Given the description of an element on the screen output the (x, y) to click on. 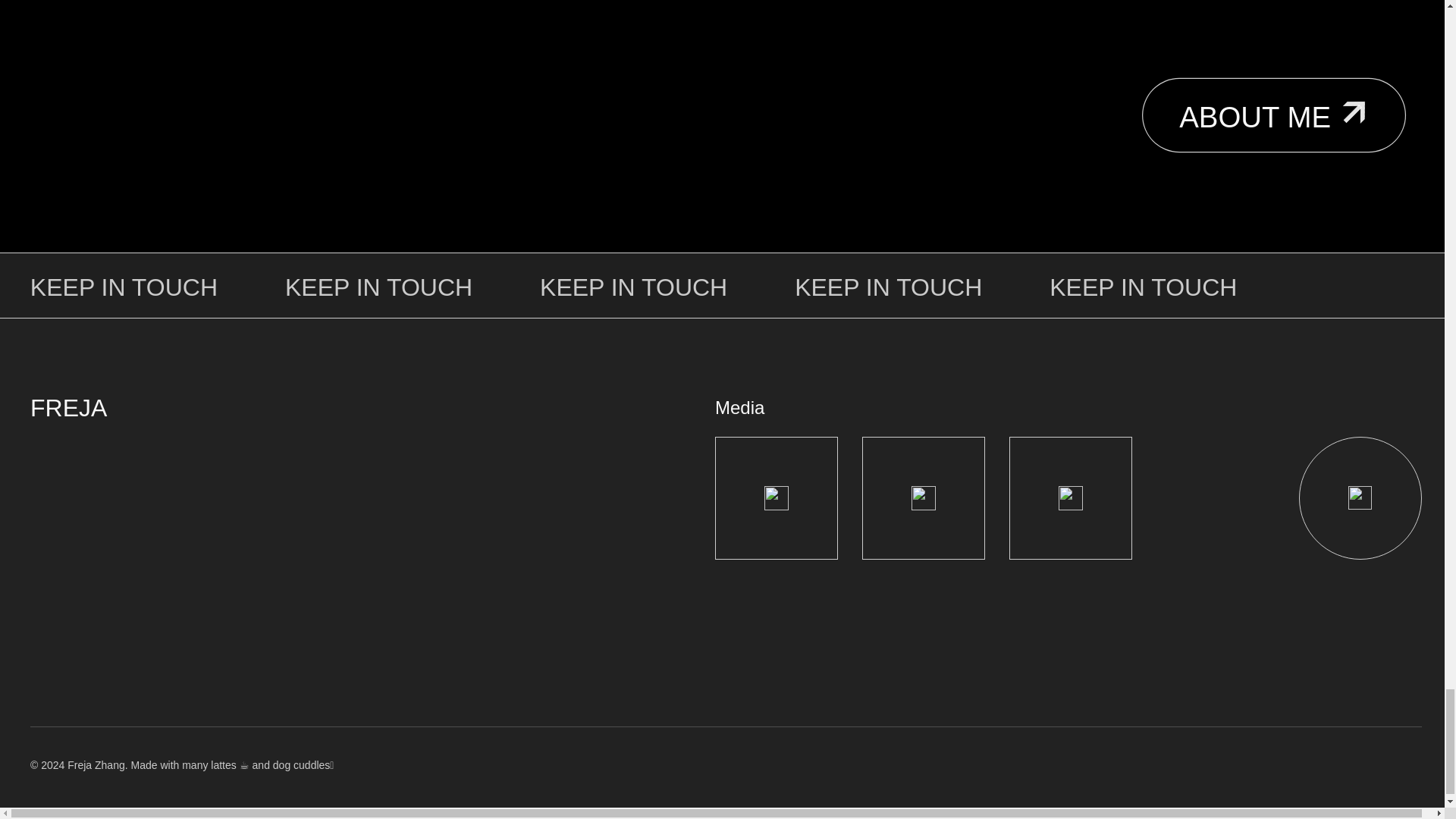
ABOUT ME (1251, 108)
FREJA (68, 407)
